Given the description of an element on the screen output the (x, y) to click on. 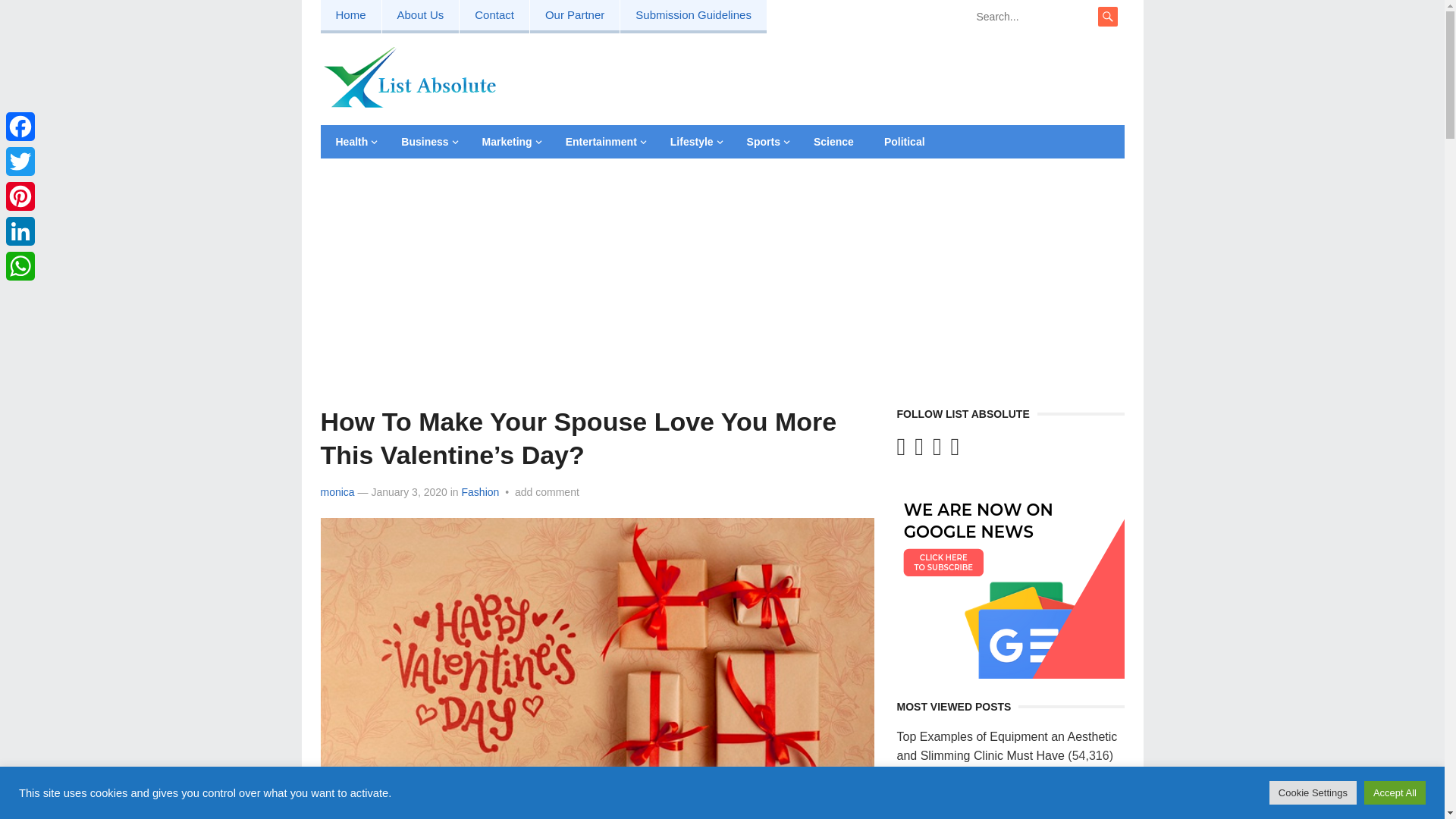
Posts by monica (336, 491)
Health (352, 141)
Lifestyle (693, 141)
Home (350, 16)
Contact (494, 16)
View all posts in Fashion (480, 491)
Submission Guidelines (693, 16)
About Us (420, 16)
Our Partner (574, 16)
Business (425, 141)
Entertainment (602, 141)
Marketing (508, 141)
